Given the description of an element on the screen output the (x, y) to click on. 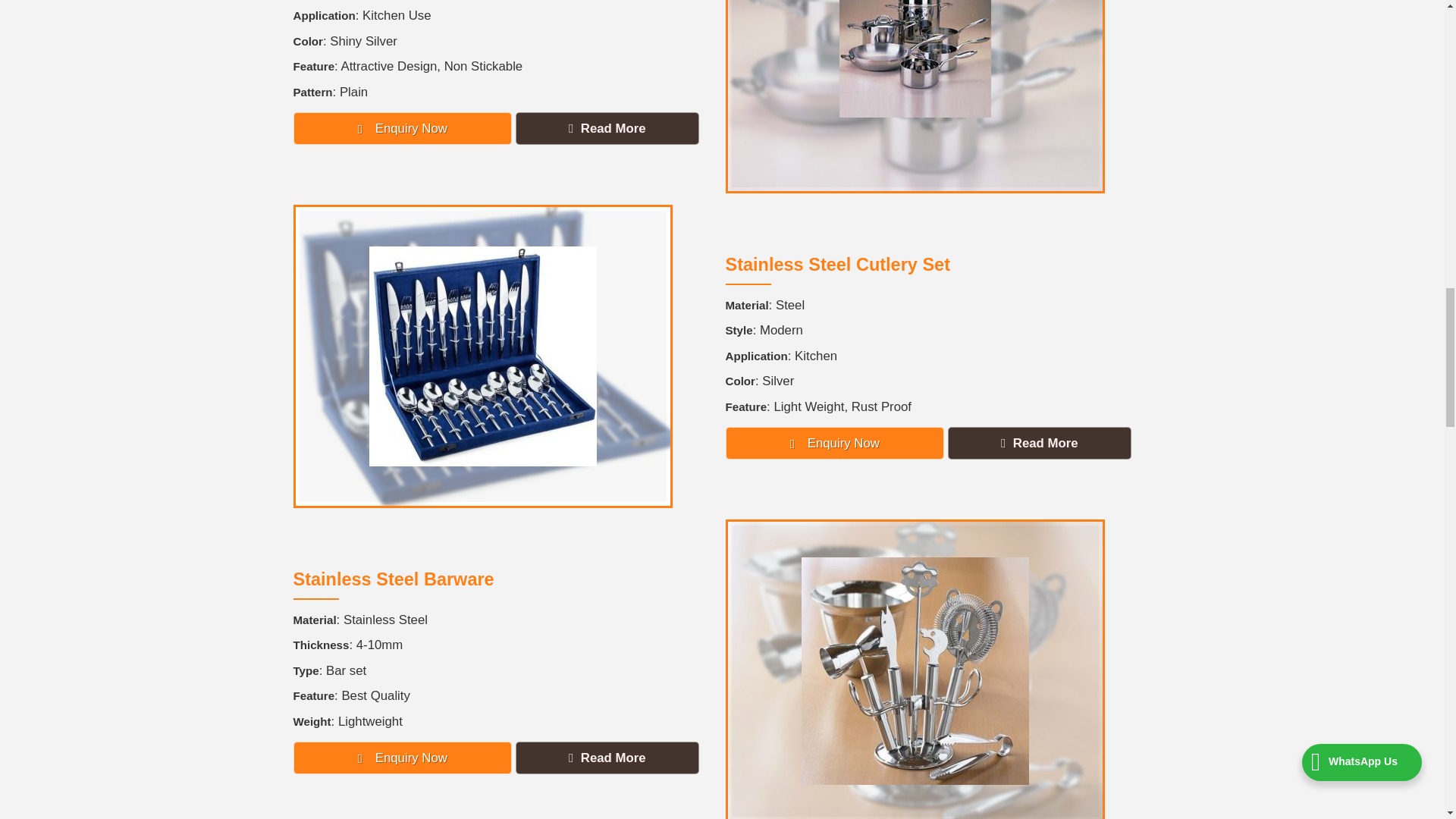
Enquiry Now (402, 128)
Read More (606, 128)
